Given the description of an element on the screen output the (x, y) to click on. 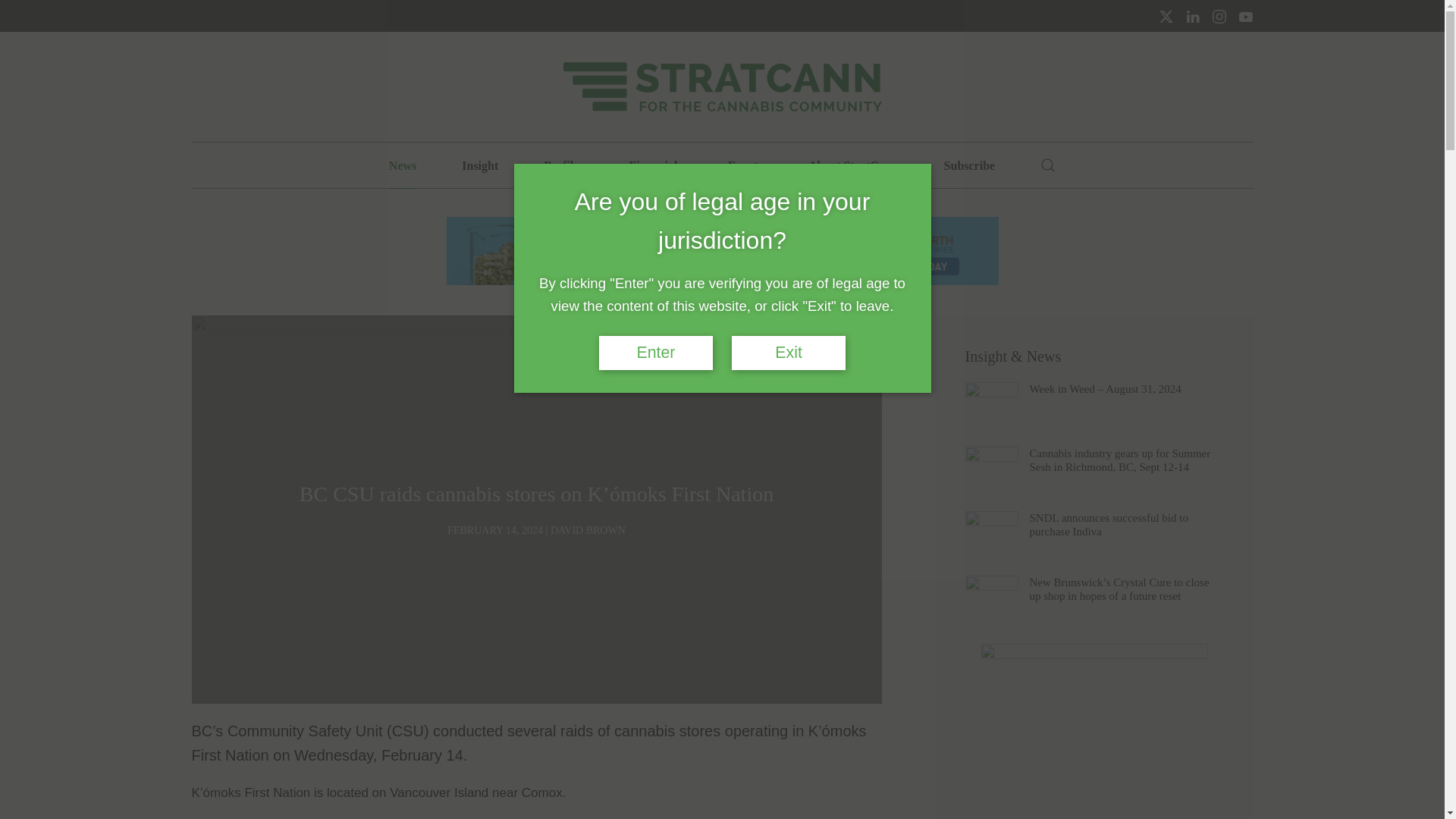
Subscribe (969, 165)
About StratCann (853, 165)
Financials (654, 165)
